Given the description of an element on the screen output the (x, y) to click on. 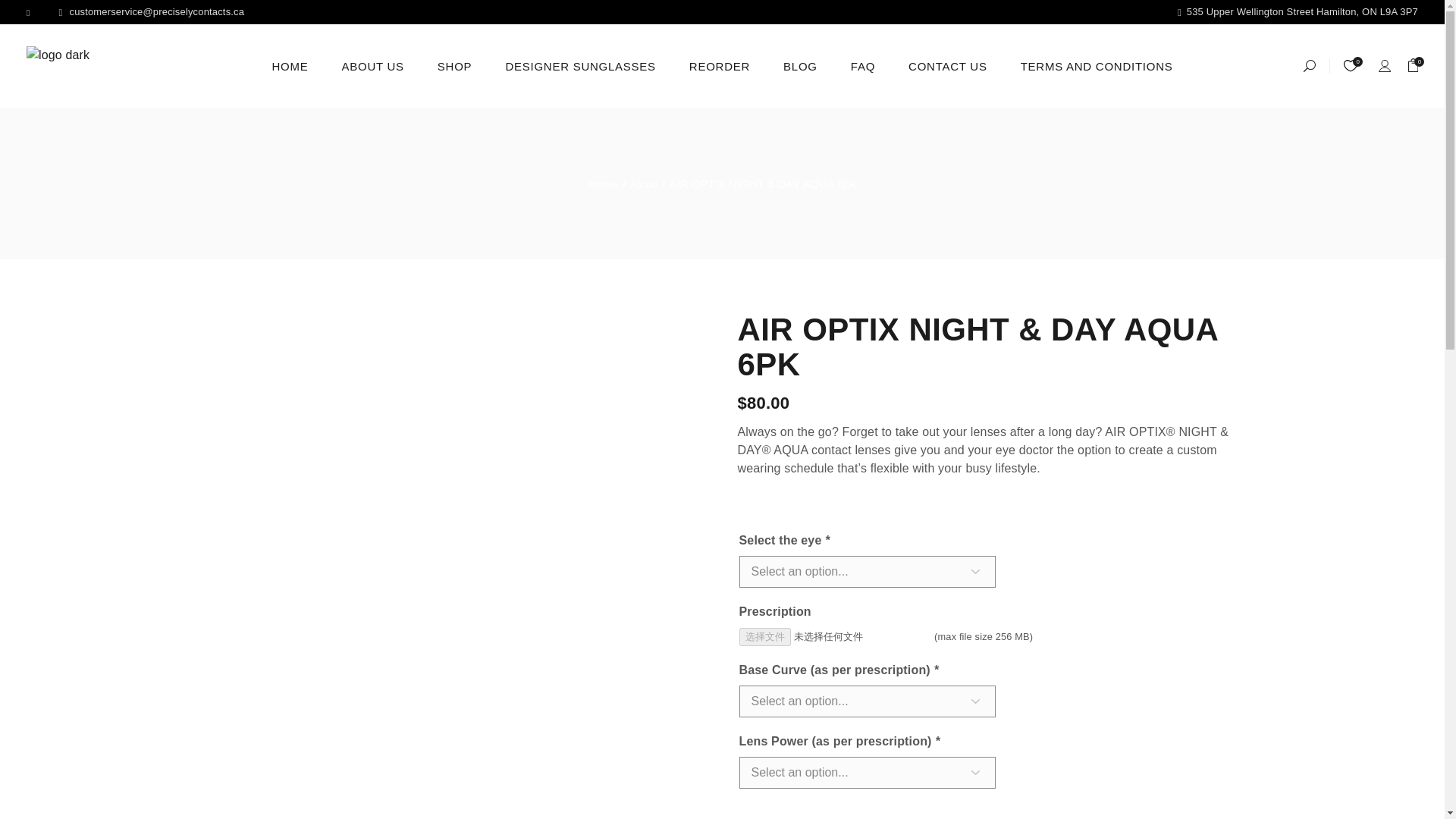
0 (1349, 65)
DESIGNER SUNGLASSES (580, 65)
REORDER (718, 65)
HOME (288, 65)
TERMS AND CONDITIONS (1096, 65)
ABOUT US (371, 65)
0 (1412, 65)
CONTACT US (947, 65)
Required field (936, 740)
FAQ (862, 65)
535 Upper Wellington Street Hamilton, ON L9A 3P7 (1297, 11)
Required field (935, 669)
Required field (827, 540)
SHOP (454, 65)
BLOG (799, 65)
